Given the description of an element on the screen output the (x, y) to click on. 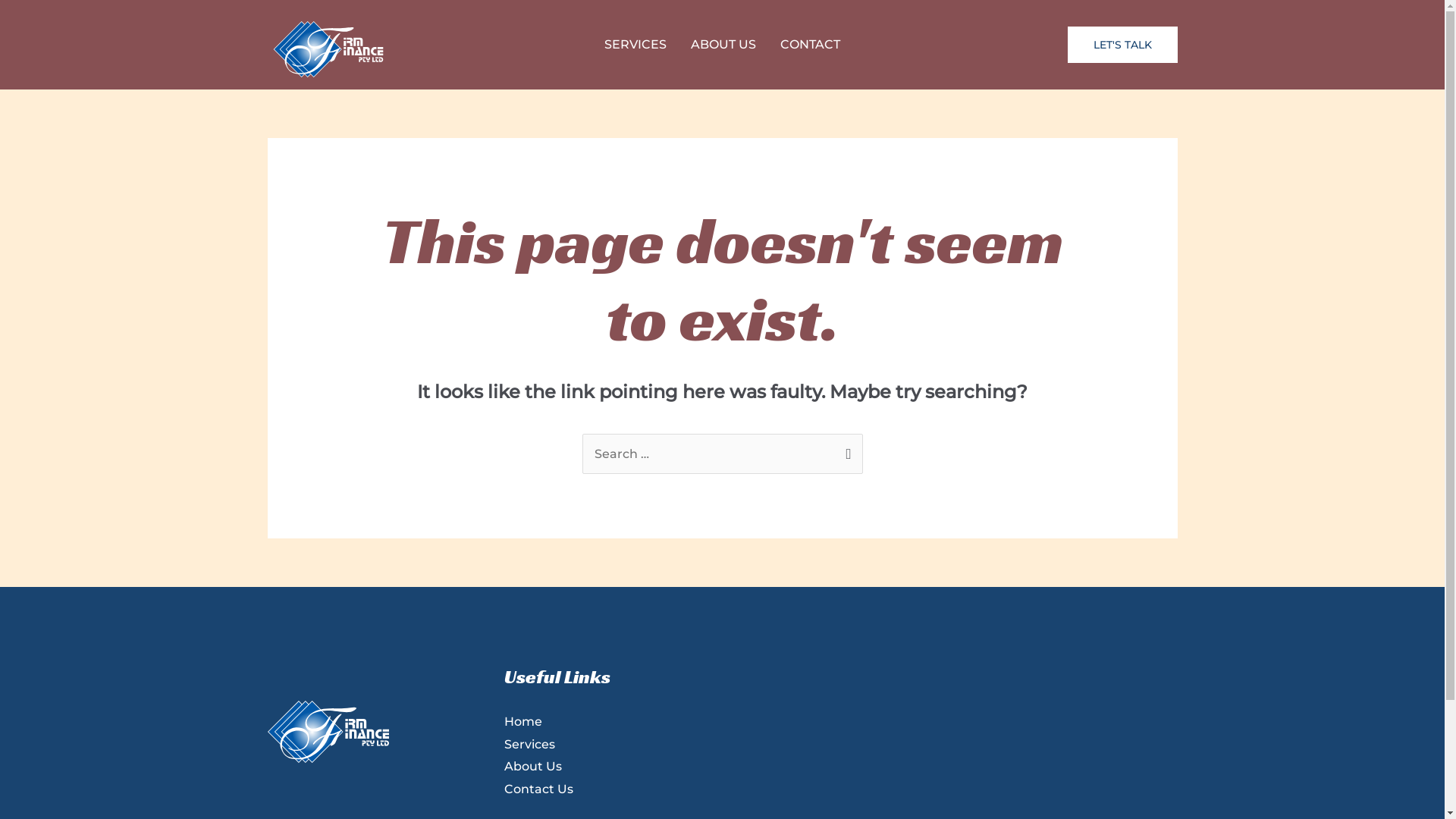
About Us Element type: text (532, 766)
Home Element type: text (523, 721)
CONTACT Element type: text (810, 44)
SERVICES Element type: text (635, 44)
ABOUT US Element type: text (723, 44)
Services Element type: text (529, 744)
Contact Us Element type: text (538, 788)
LET'S TALK Element type: text (1122, 44)
Search Element type: text (845, 449)
